Given the description of an element on the screen output the (x, y) to click on. 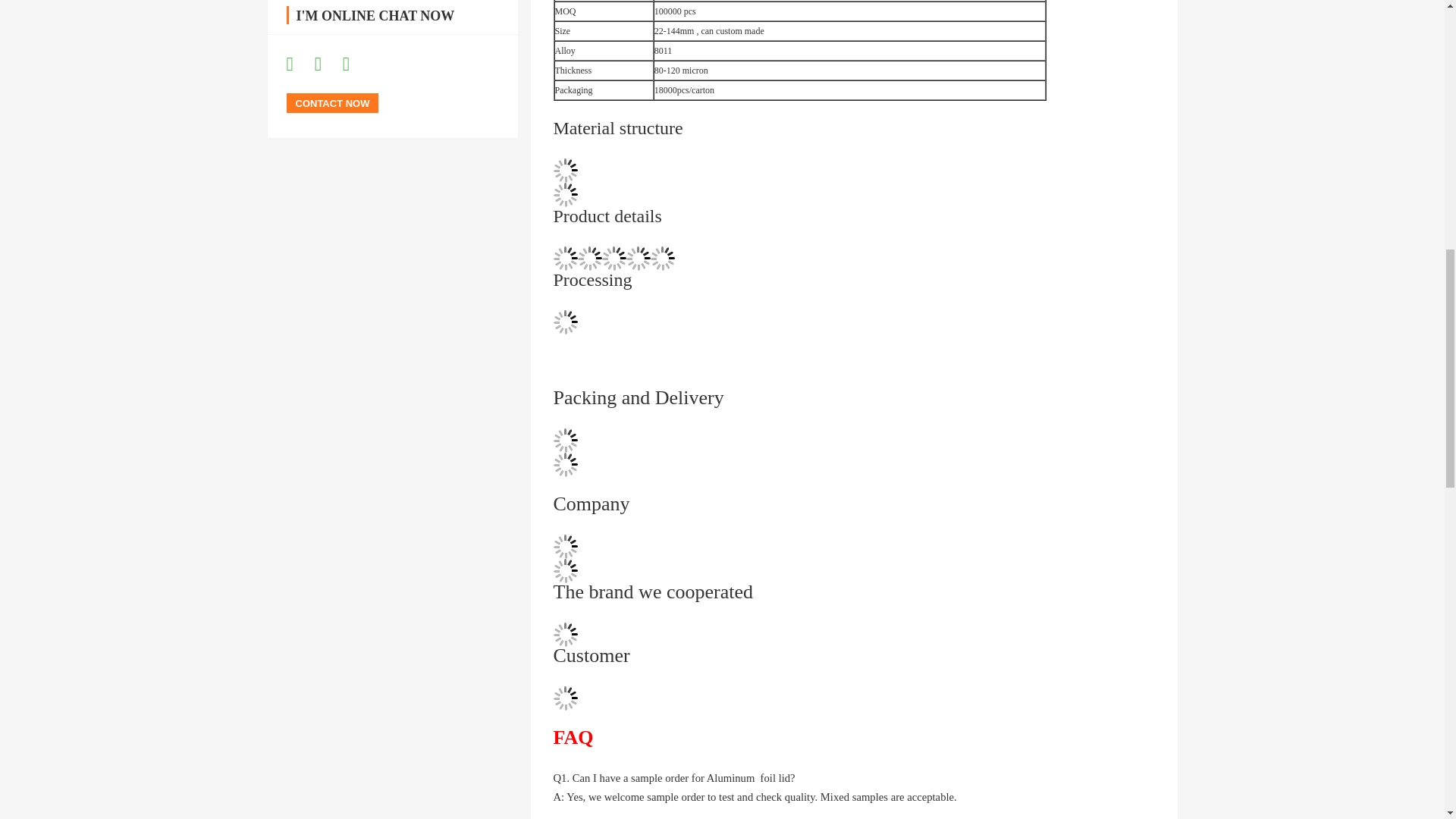
Contact Now (332, 103)
